Given the description of an element on the screen output the (x, y) to click on. 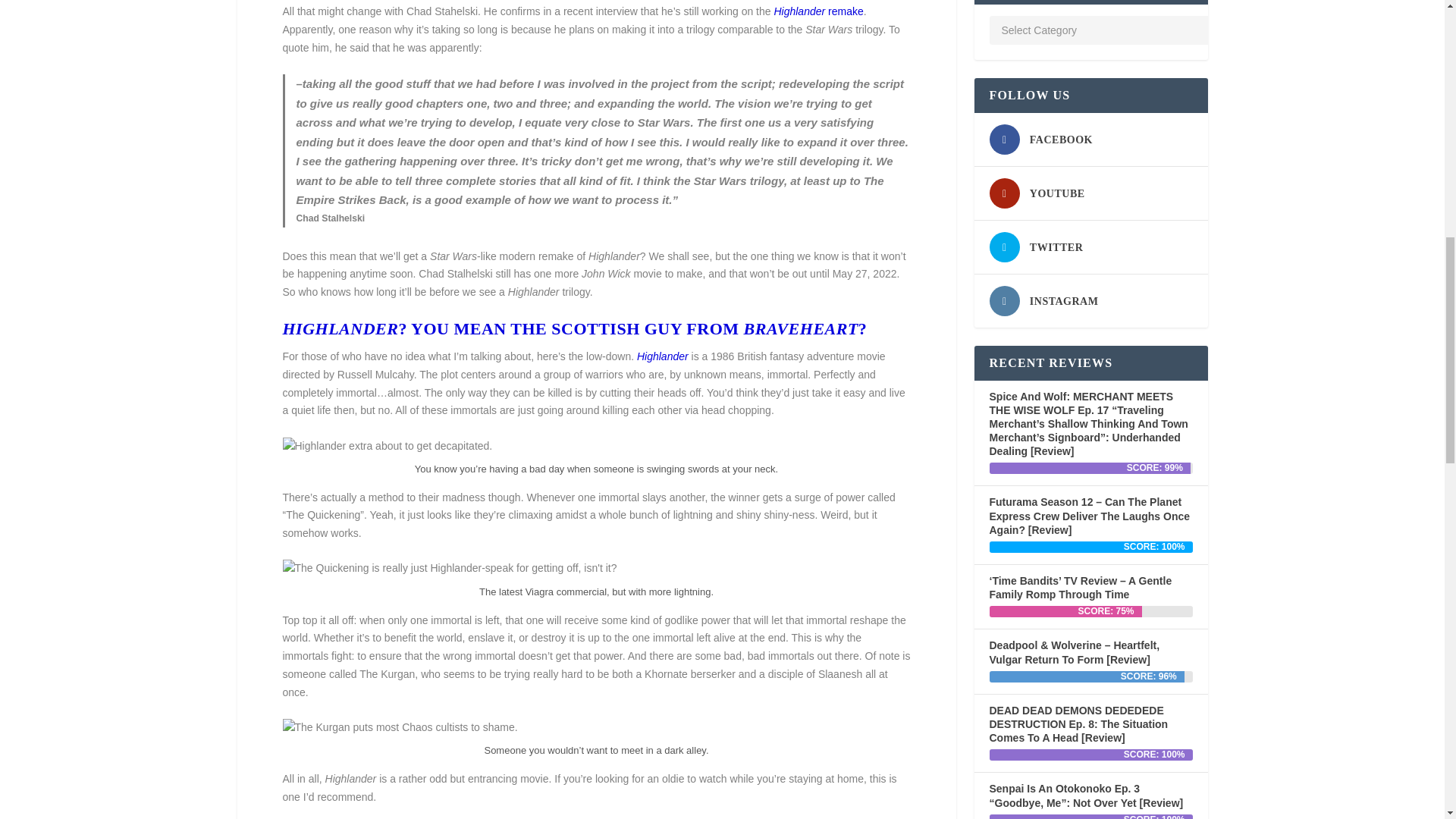
Highlander (662, 356)
remake (844, 10)
Highlander (799, 10)
